Given the description of an element on the screen output the (x, y) to click on. 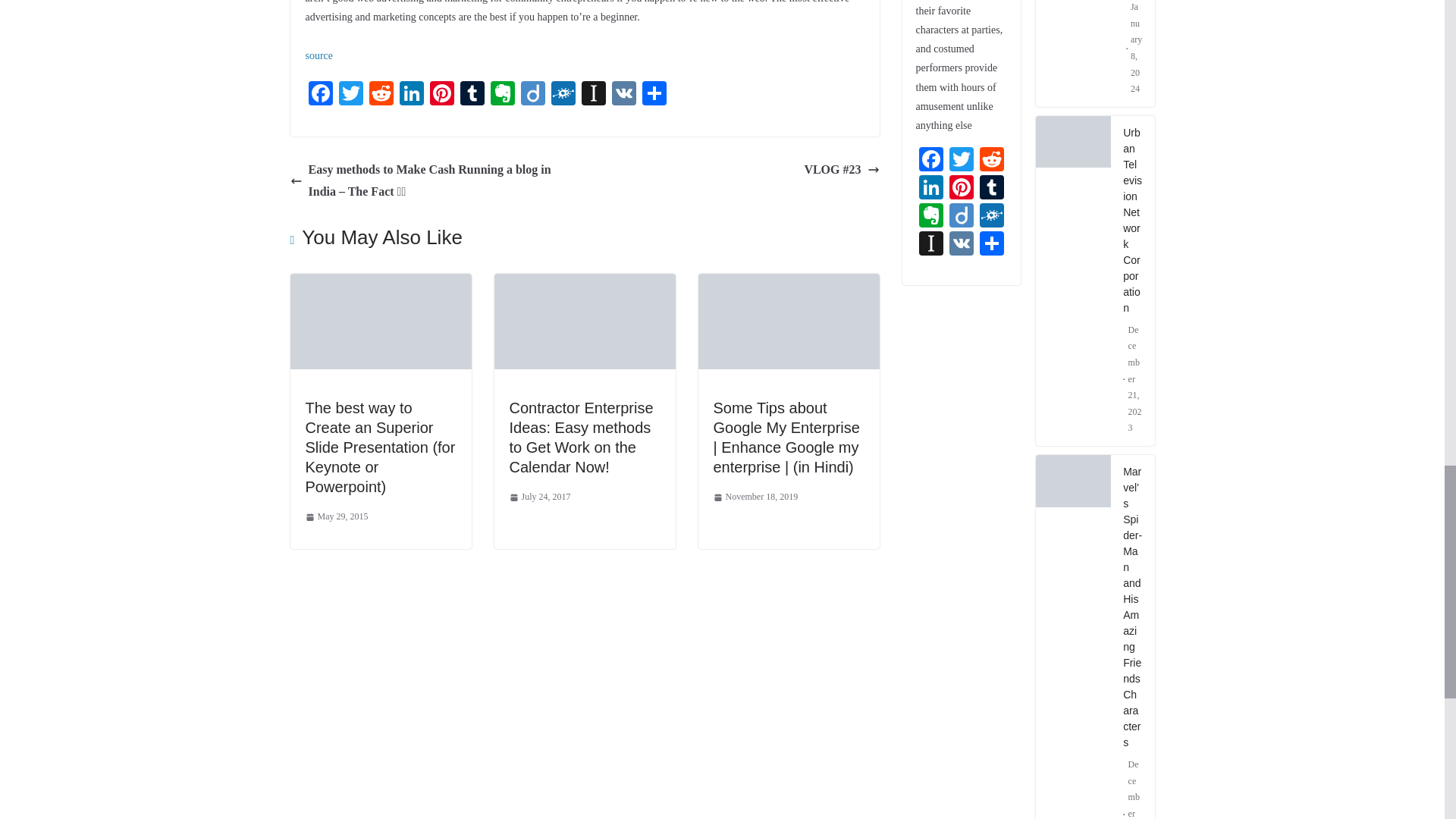
Twitter (349, 94)
Pinterest (441, 94)
LinkedIn (411, 94)
Reddit (380, 94)
Facebook (319, 94)
